Given the description of an element on the screen output the (x, y) to click on. 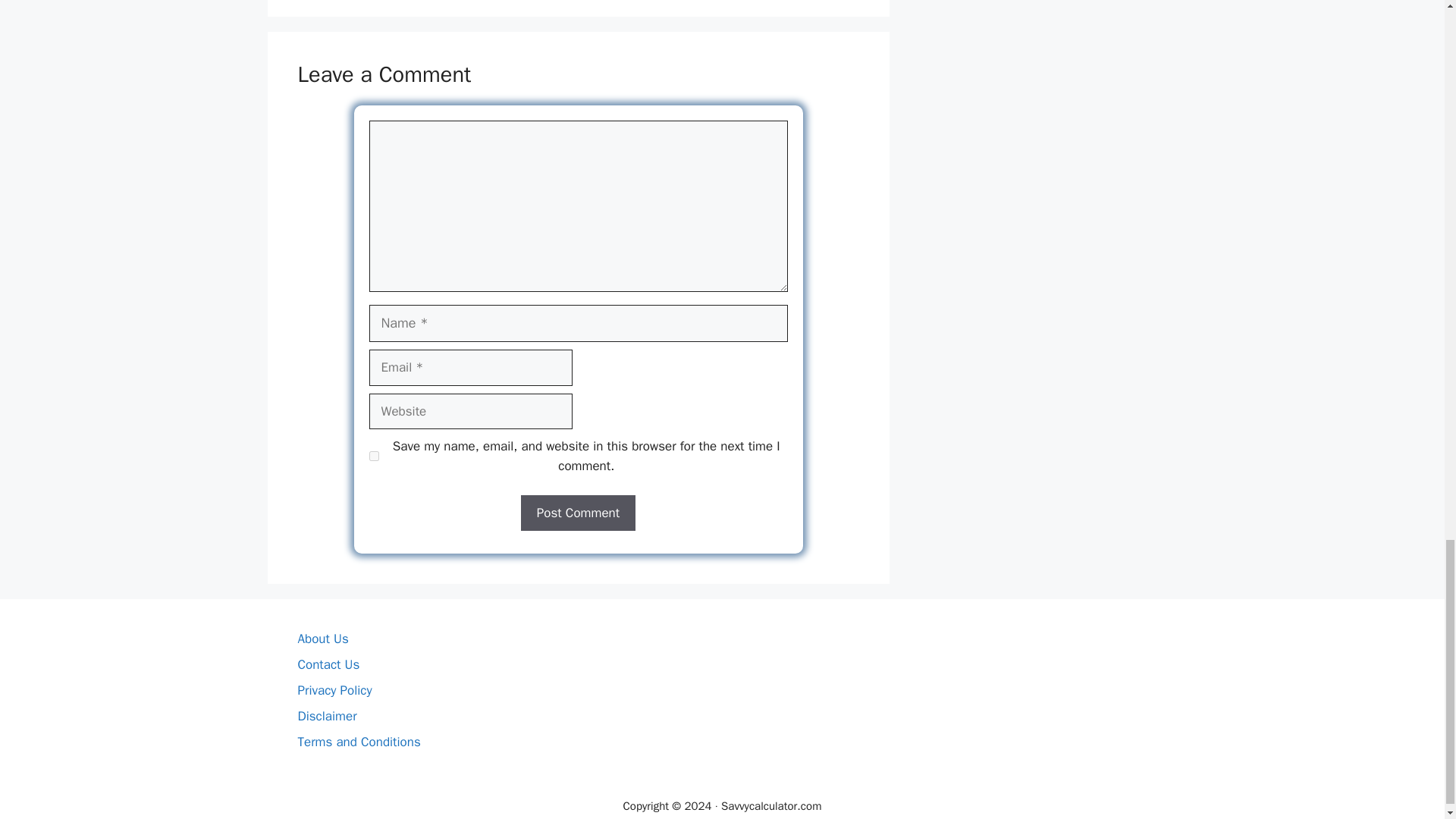
Terms and Conditions (358, 741)
Disclaimer (326, 715)
About Us (322, 638)
Contact Us (328, 664)
Privacy Policy (334, 690)
yes (373, 456)
Post Comment (577, 513)
Post Comment (577, 513)
